Given the description of an element on the screen output the (x, y) to click on. 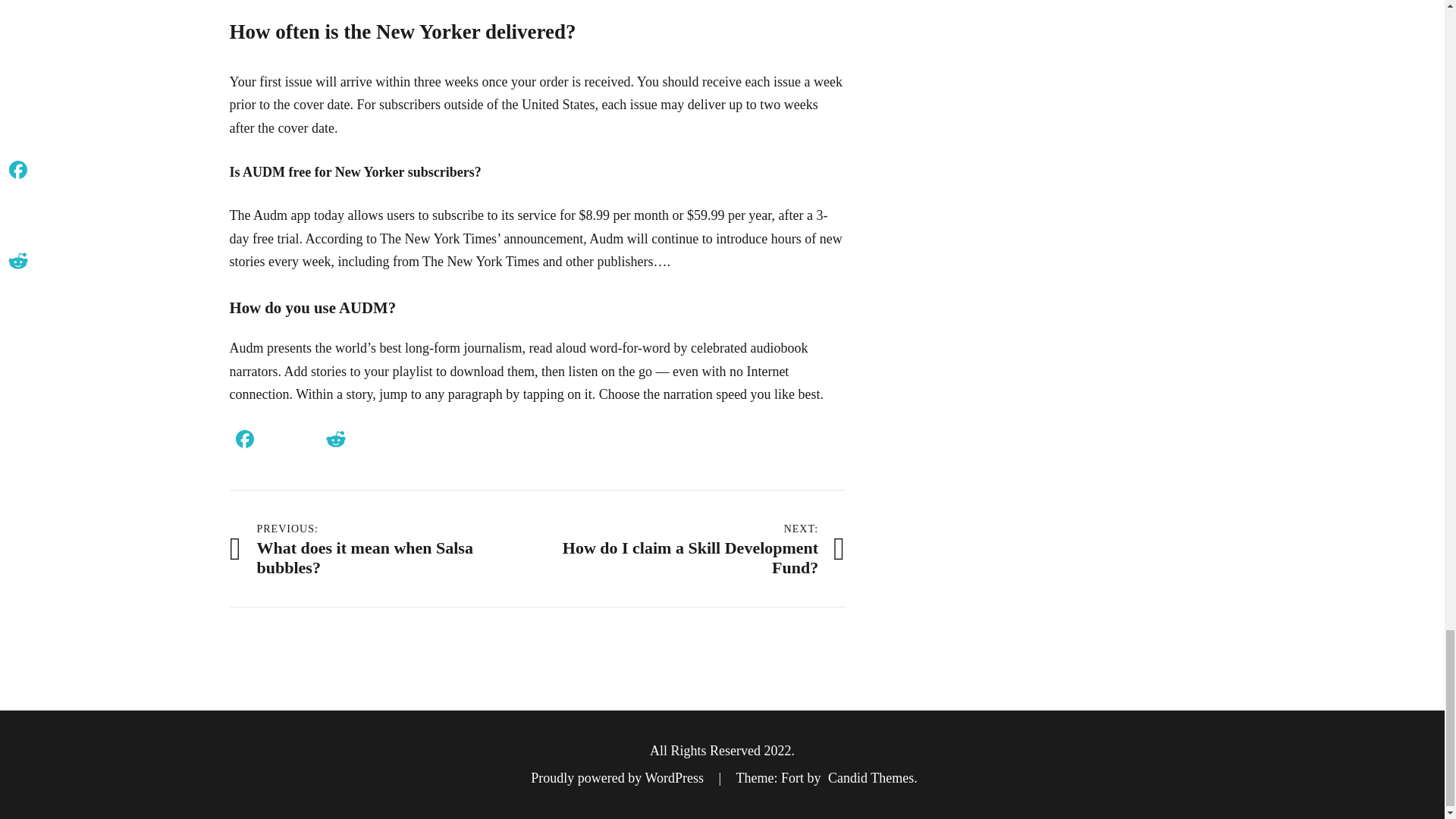
Facebook (243, 440)
WhatsApp (365, 440)
Share (456, 440)
Telegram (425, 440)
Reddit (335, 440)
Messenger (395, 440)
WhatsApp (365, 440)
Facebook (691, 547)
